Given the description of an element on the screen output the (x, y) to click on. 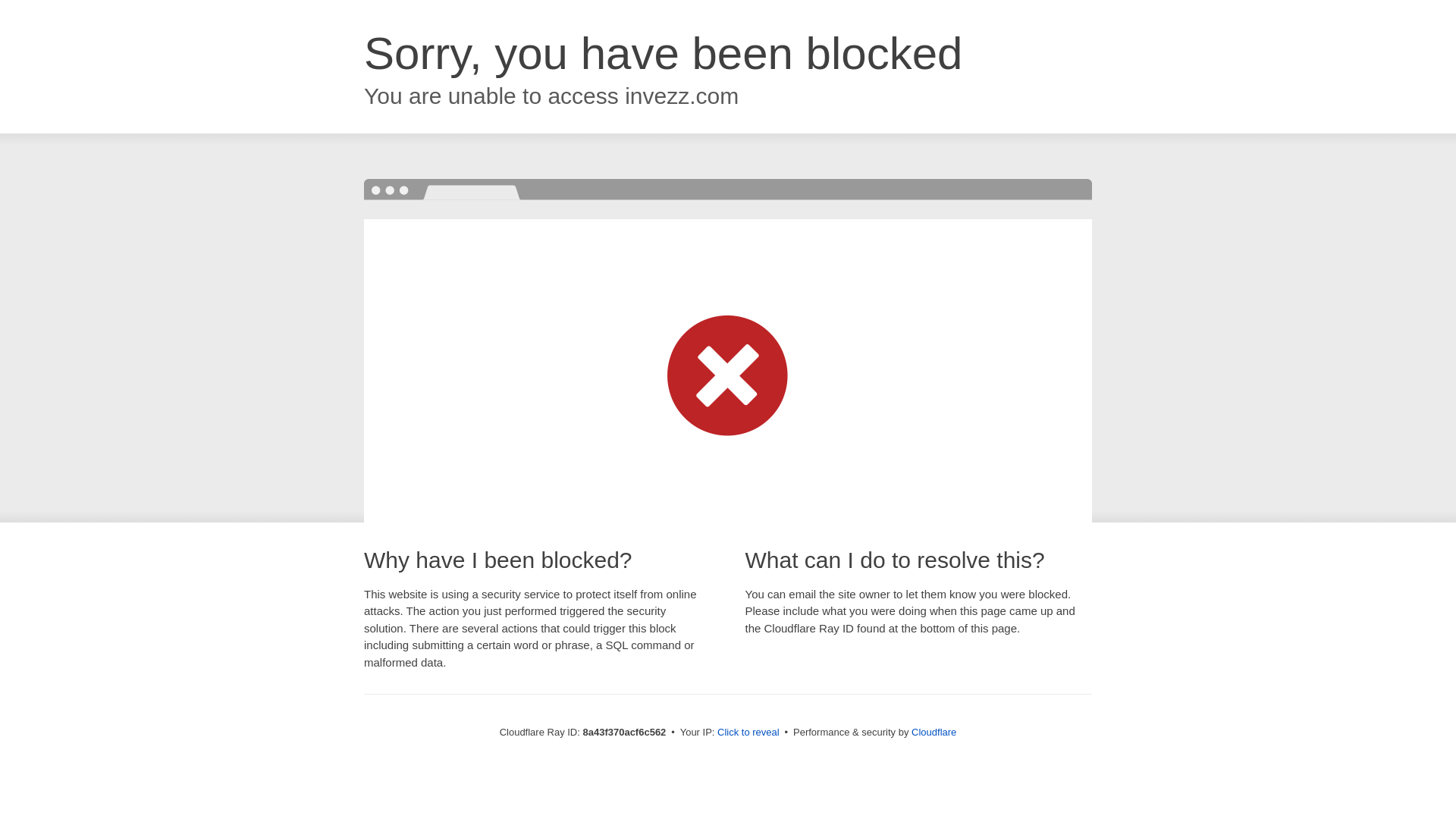
Cloudflare (933, 731)
Click to reveal (747, 732)
